Given the description of an element on the screen output the (x, y) to click on. 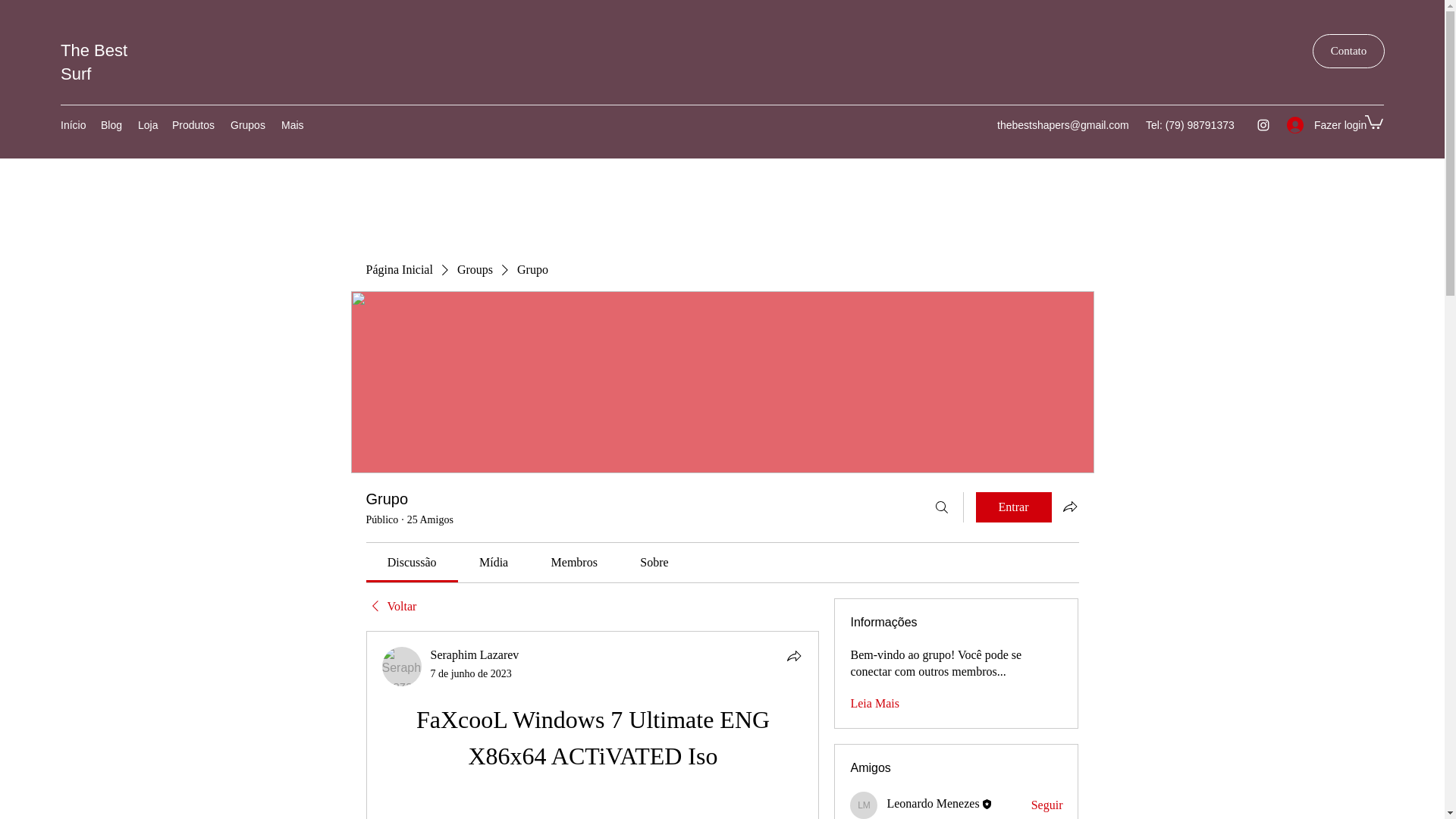
Fazer login (1317, 124)
Seraphim Lazarev (401, 666)
Seguir (1046, 805)
Leonardo Menezes (932, 802)
Produtos (193, 124)
Groups (475, 269)
Leia Mais (874, 703)
7 de junho de 2023 (471, 673)
Loja (147, 124)
Voltar (390, 606)
Leonardo Menezes (863, 805)
Entrar (1013, 507)
Grupos (247, 124)
Blog (112, 124)
The Best Surf (94, 61)
